Given the description of an element on the screen output the (x, y) to click on. 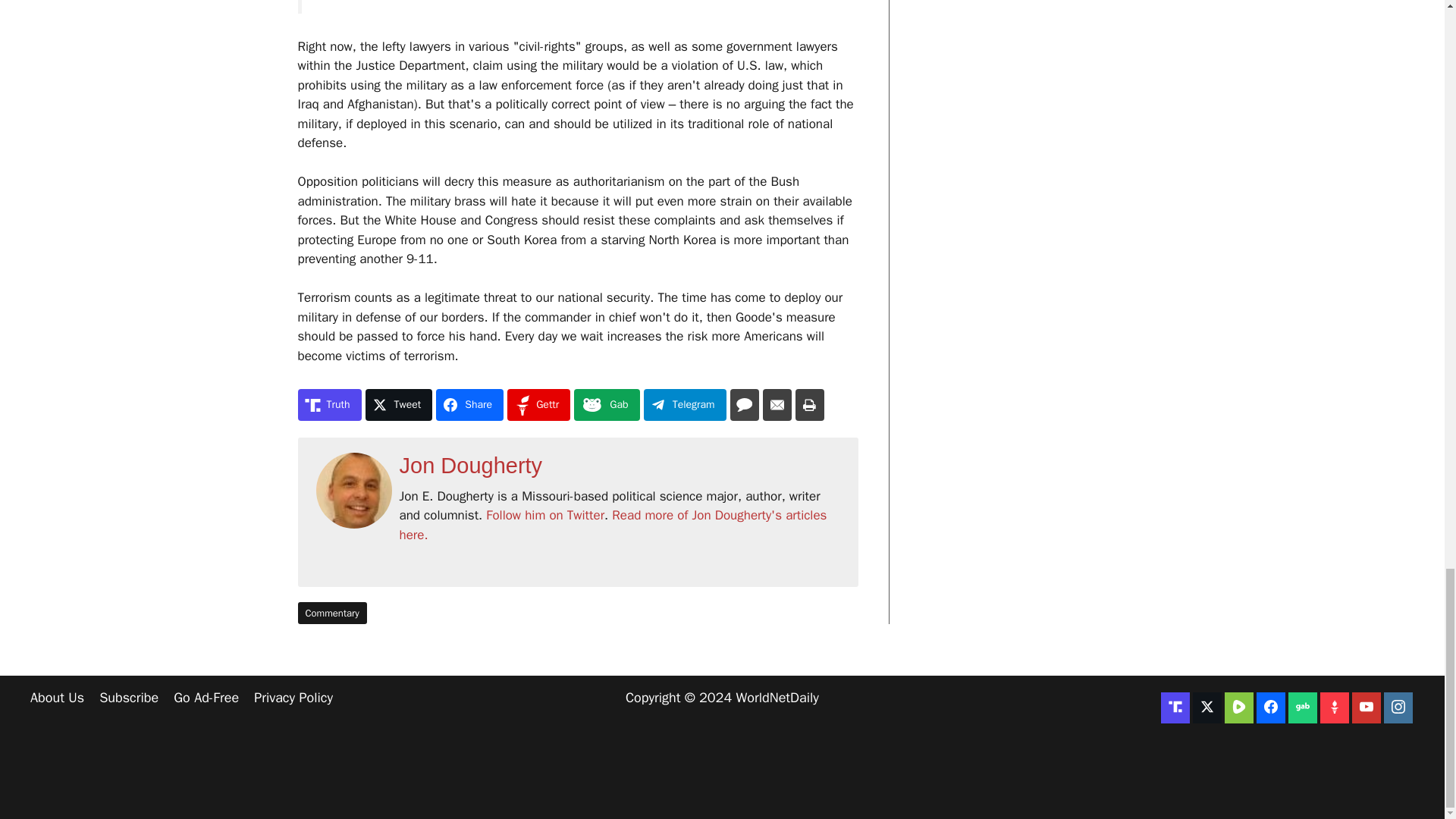
Share on Gab (606, 404)
Share on Gettr (538, 404)
Share on Share (469, 404)
Share on Truth (329, 404)
Share on Tweet (398, 404)
